Given the description of an element on the screen output the (x, y) to click on. 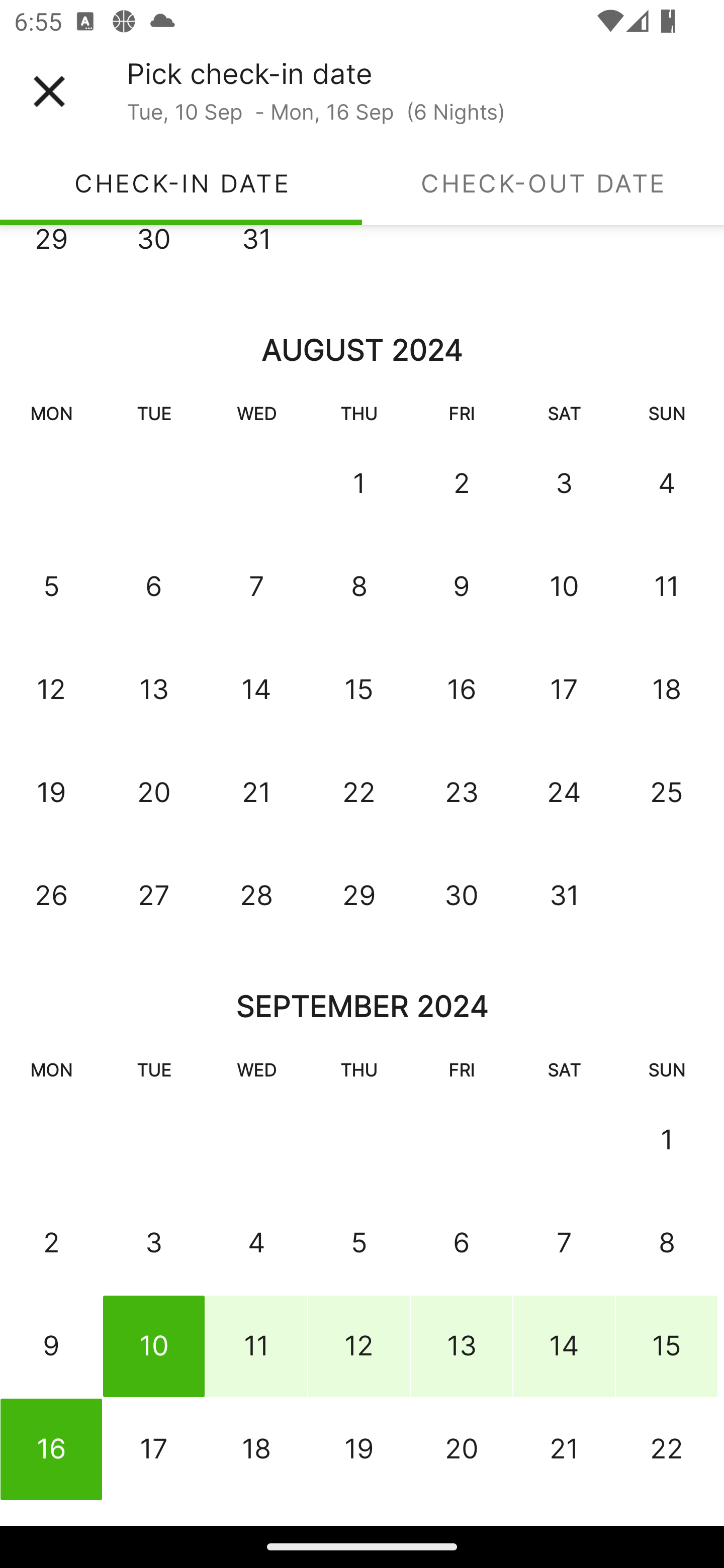
Check-out Date CHECK-OUT DATE (543, 183)
